Given the description of an element on the screen output the (x, y) to click on. 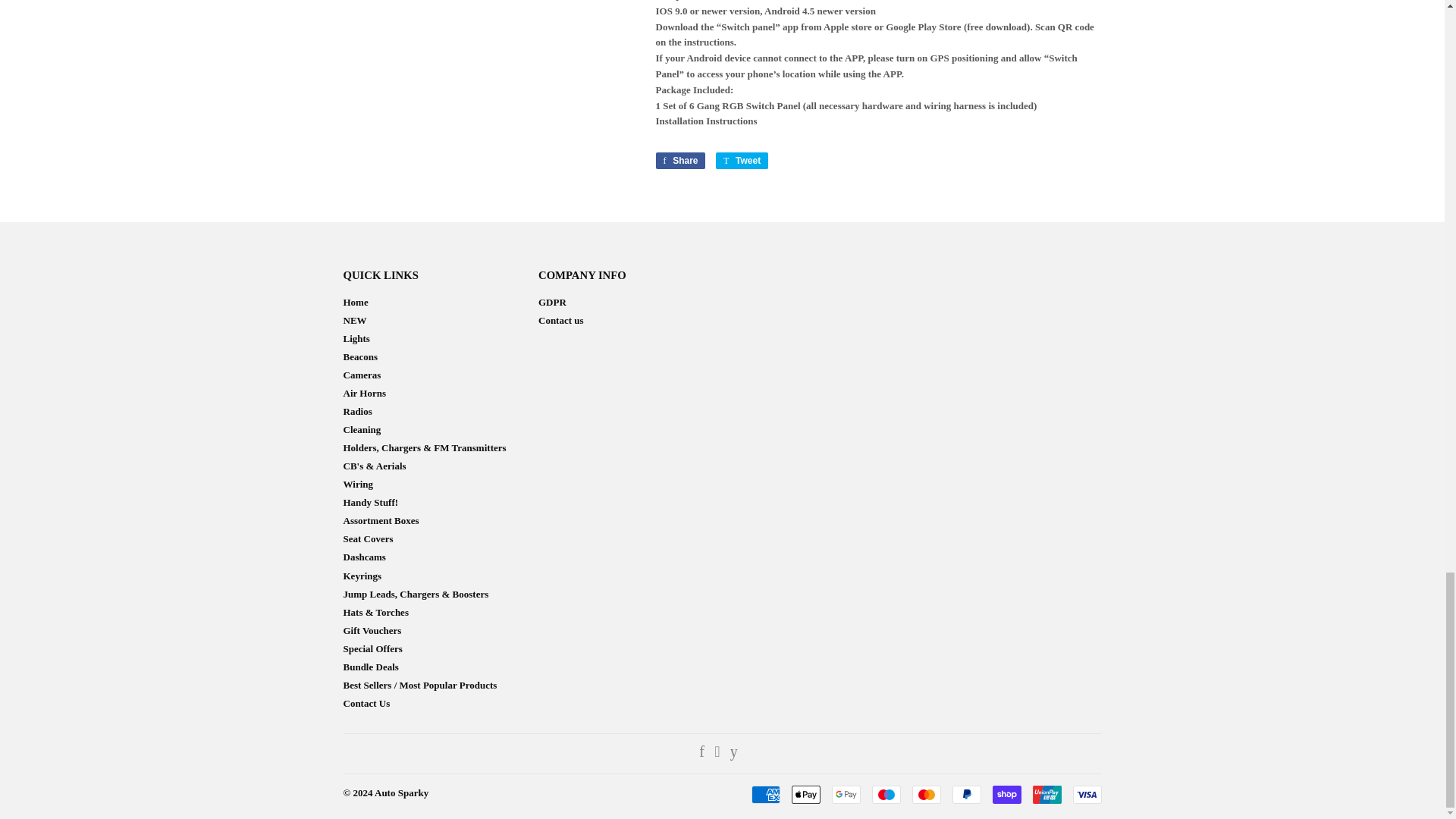
Share on Facebook (679, 160)
Mastercard (925, 794)
American Express (764, 794)
Shop Pay (1005, 794)
Maestro (886, 794)
Apple Pay (806, 794)
Visa (1085, 794)
Tweet on Twitter (742, 160)
Union Pay (1046, 794)
Google Pay (845, 794)
